Given the description of an element on the screen output the (x, y) to click on. 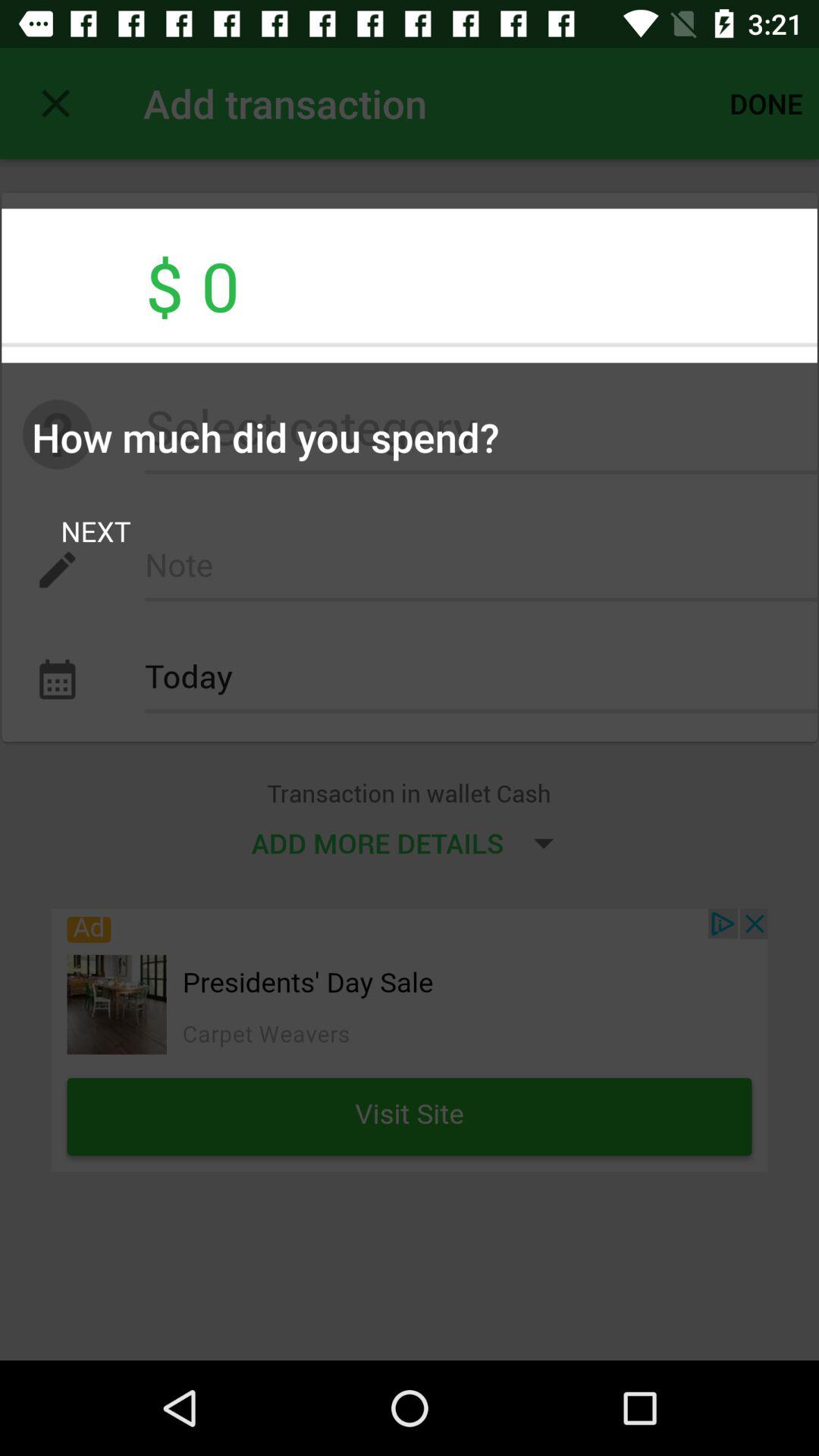
go to advertiser website (409, 1039)
